Given the description of an element on the screen output the (x, y) to click on. 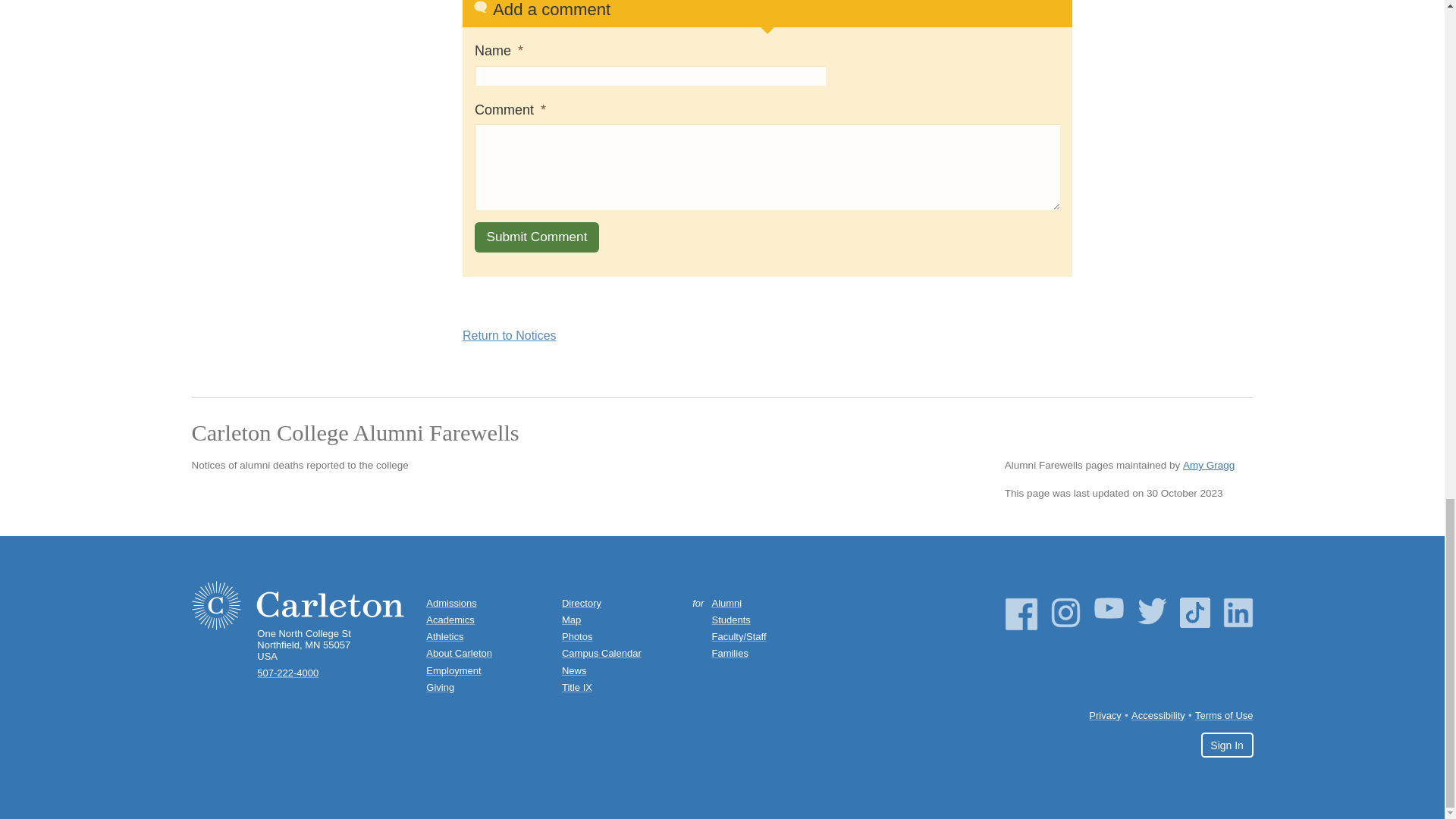
Submit Comment (536, 236)
507-222-4000 (287, 672)
Return to Notices (509, 335)
Amy Gragg (1208, 466)
Submit Comment (536, 236)
